Given the description of an element on the screen output the (x, y) to click on. 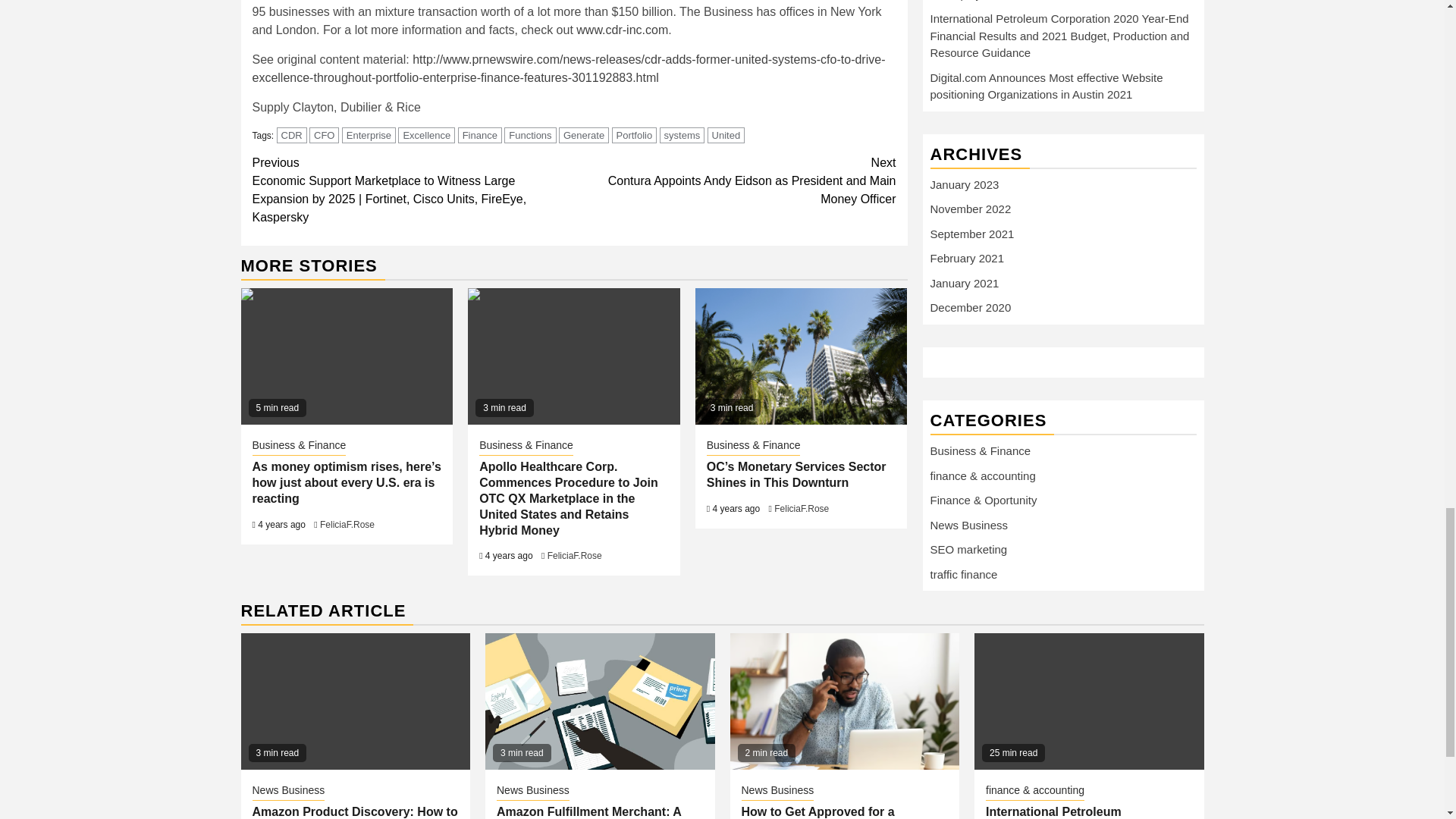
Generate (583, 135)
United (726, 135)
How to Get Approved for a Personal Loan When Unemployed (844, 701)
Functions (529, 135)
systems (681, 135)
Portfolio (633, 135)
www.cdr-inc.com (622, 29)
Excellence (425, 135)
CFO (323, 135)
